Given the description of an element on the screen output the (x, y) to click on. 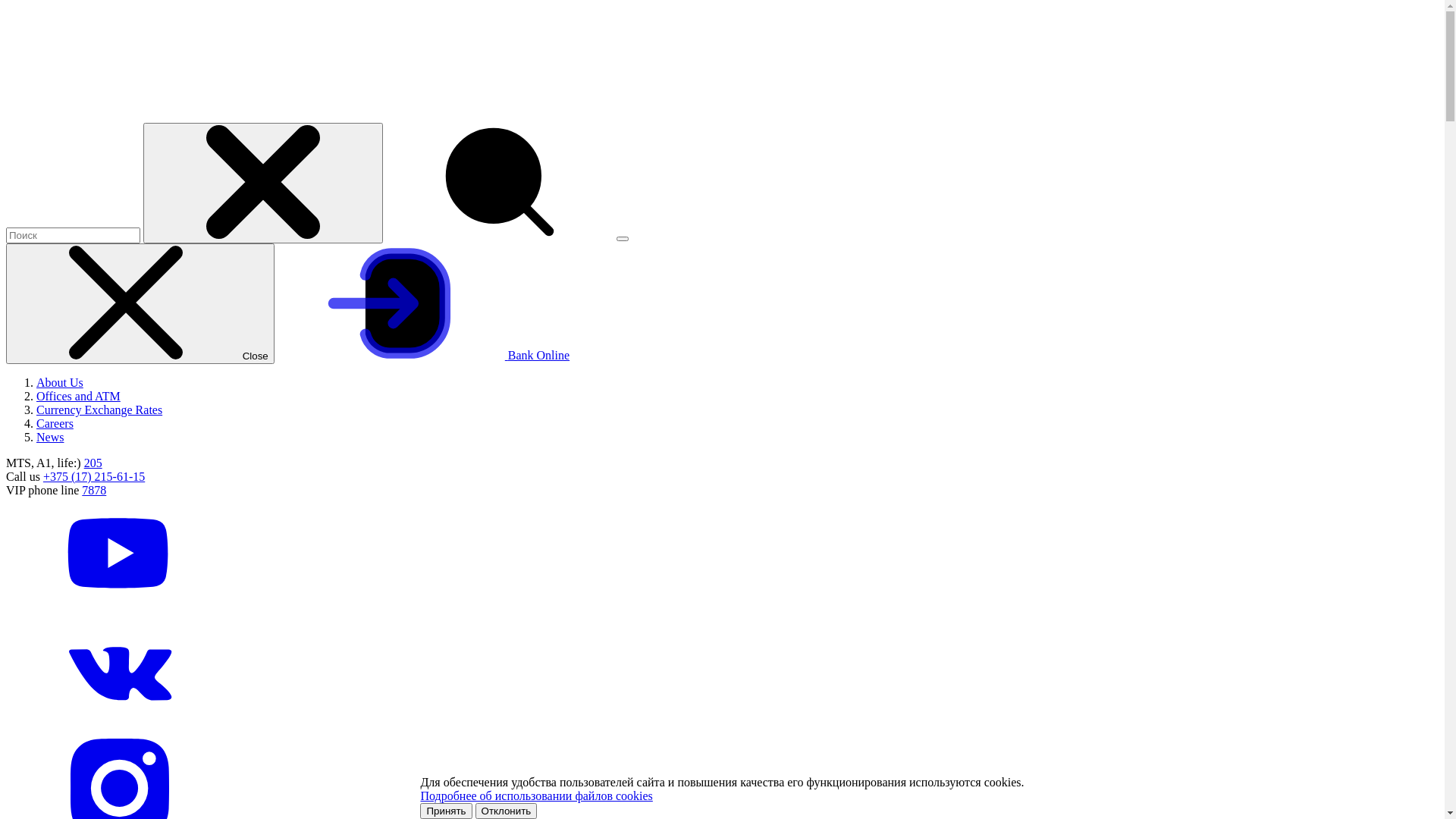
7878 Element type: text (93, 489)
About Us Element type: text (59, 382)
News Element type: text (49, 436)
Currency Exchange Rates Element type: text (99, 409)
vk Element type: hover (119, 723)
+375 (17) 215-61-15 Element type: text (93, 476)
YouTube Element type: hover (119, 606)
Careers Element type: text (54, 423)
Offices and ATM Element type: text (78, 395)
Close Element type: text (140, 303)
Bank Online Element type: text (423, 354)
205 Element type: text (93, 462)
